Given the description of an element on the screen output the (x, y) to click on. 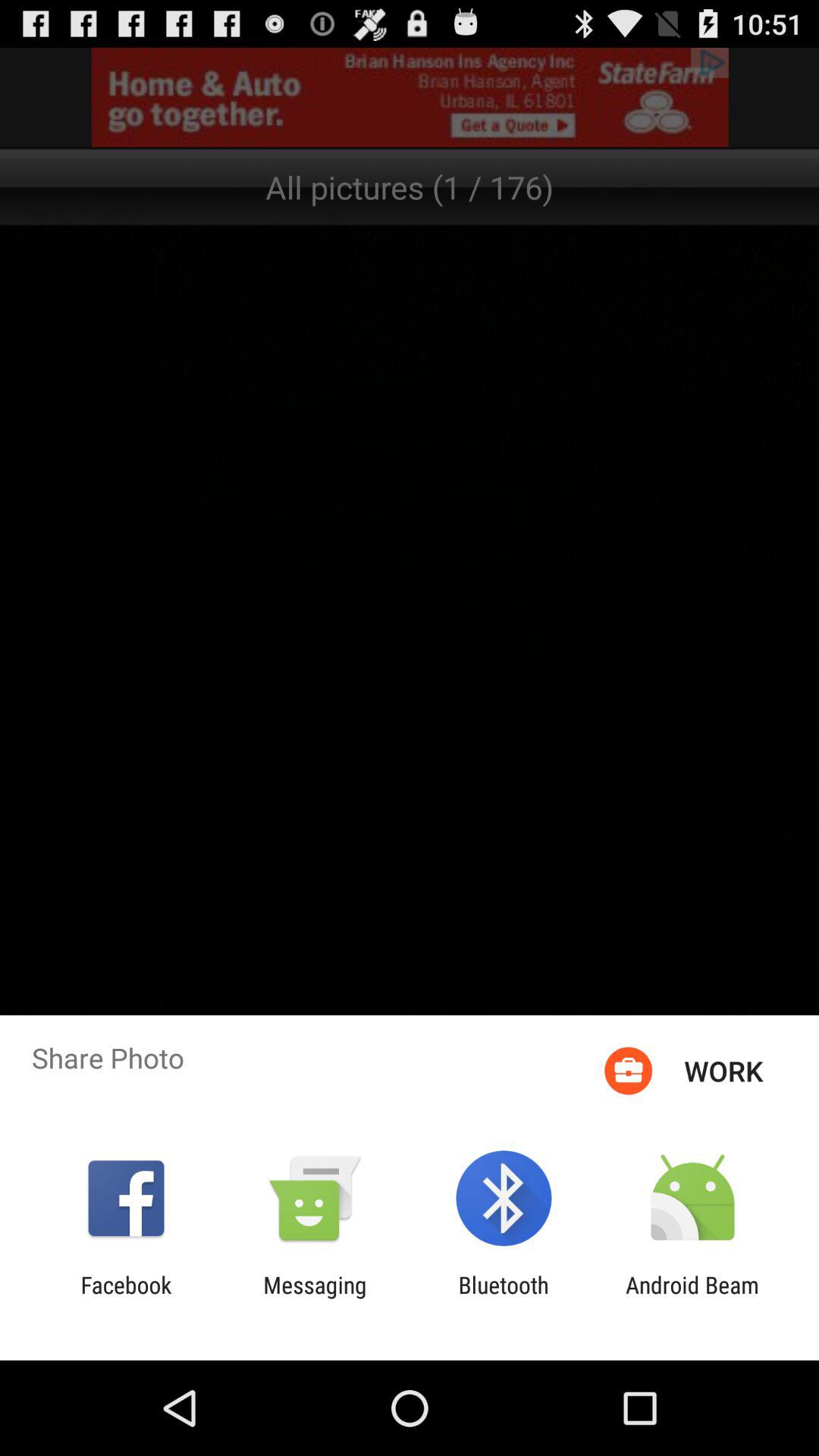
select item next to the android beam (503, 1298)
